Given the description of an element on the screen output the (x, y) to click on. 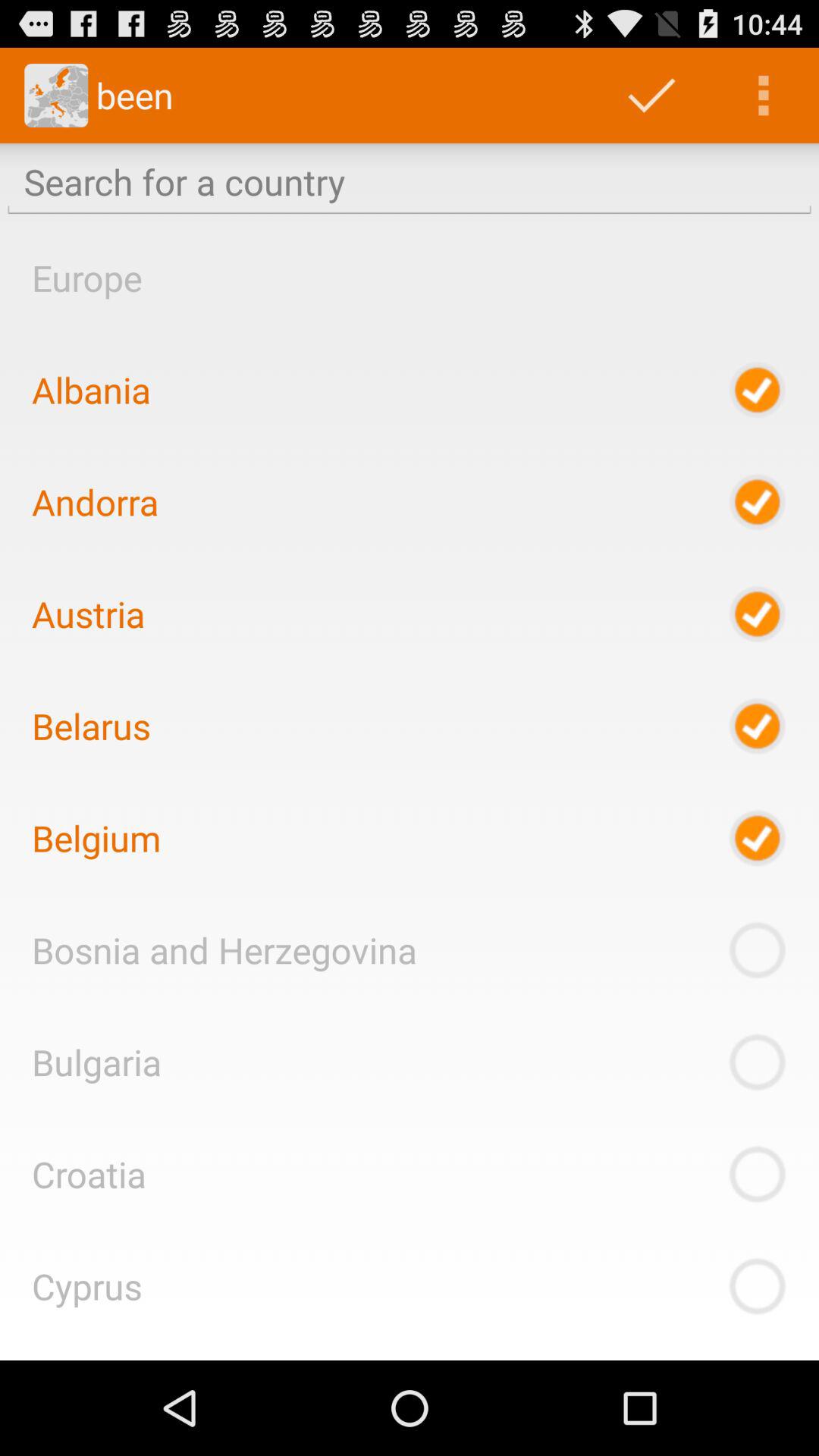
turn on item above croatia icon (96, 1061)
